Given the description of an element on the screen output the (x, y) to click on. 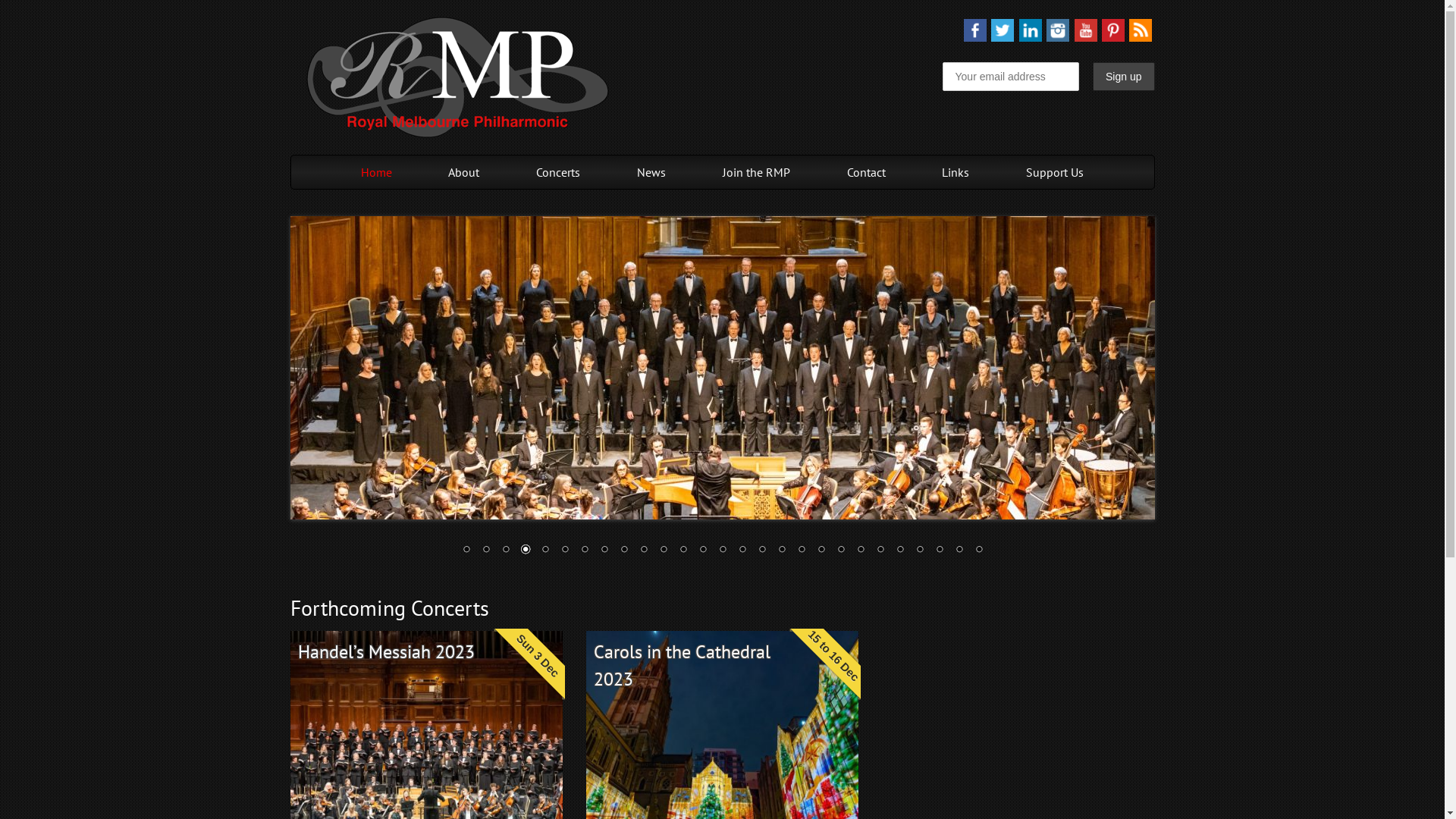
Links Element type: text (955, 171)
6 Element type: text (564, 550)
25 Element type: text (939, 550)
LinkedIn Element type: hover (1030, 36)
10 Element type: text (643, 550)
Sign up Element type: text (1123, 76)
14 Element type: text (722, 550)
5 Element type: text (544, 550)
19 Element type: text (820, 550)
Subscribe via RSS Element type: hover (1140, 36)
Contact Element type: text (866, 171)
18 Element type: text (801, 550)
Instagram Element type: hover (1057, 36)
YouTube Element type: hover (1085, 36)
Facebook Element type: hover (974, 36)
About Element type: text (463, 171)
4 Element type: text (525, 550)
Pinterest Element type: hover (1112, 36)
Support Us Element type: text (1054, 171)
3 Element type: text (505, 550)
20 Element type: text (840, 550)
News Element type: text (651, 171)
Concerts Element type: text (557, 171)
1 Element type: text (466, 550)
21 Element type: text (860, 550)
24 Element type: text (919, 550)
8 Element type: text (604, 550)
26 Element type: text (958, 550)
16 Element type: text (761, 550)
15 Element type: text (742, 550)
22 Element type: text (880, 550)
13 Element type: text (702, 550)
7 Element type: text (584, 550)
27 Element type: text (978, 550)
Home Element type: text (376, 171)
11 Element type: text (663, 550)
9 Element type: text (623, 550)
17 Element type: text (781, 550)
2 Element type: text (485, 550)
12 Element type: text (682, 550)
23 Element type: text (899, 550)
Join the RMP Element type: text (756, 171)
Twitter Element type: hover (1002, 36)
